Given the description of an element on the screen output the (x, y) to click on. 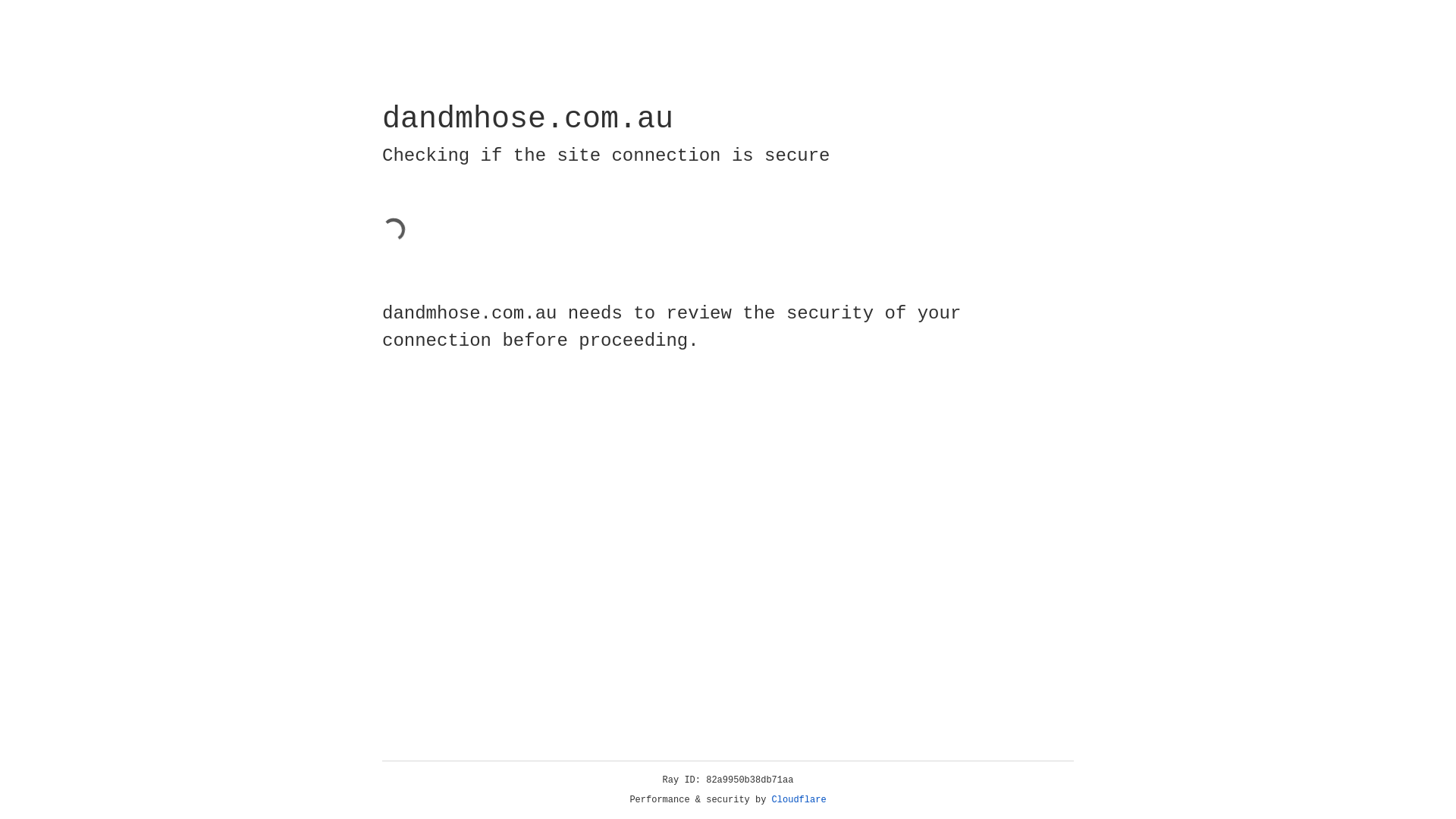
Cloudflare Element type: text (798, 799)
